Given the description of an element on the screen output the (x, y) to click on. 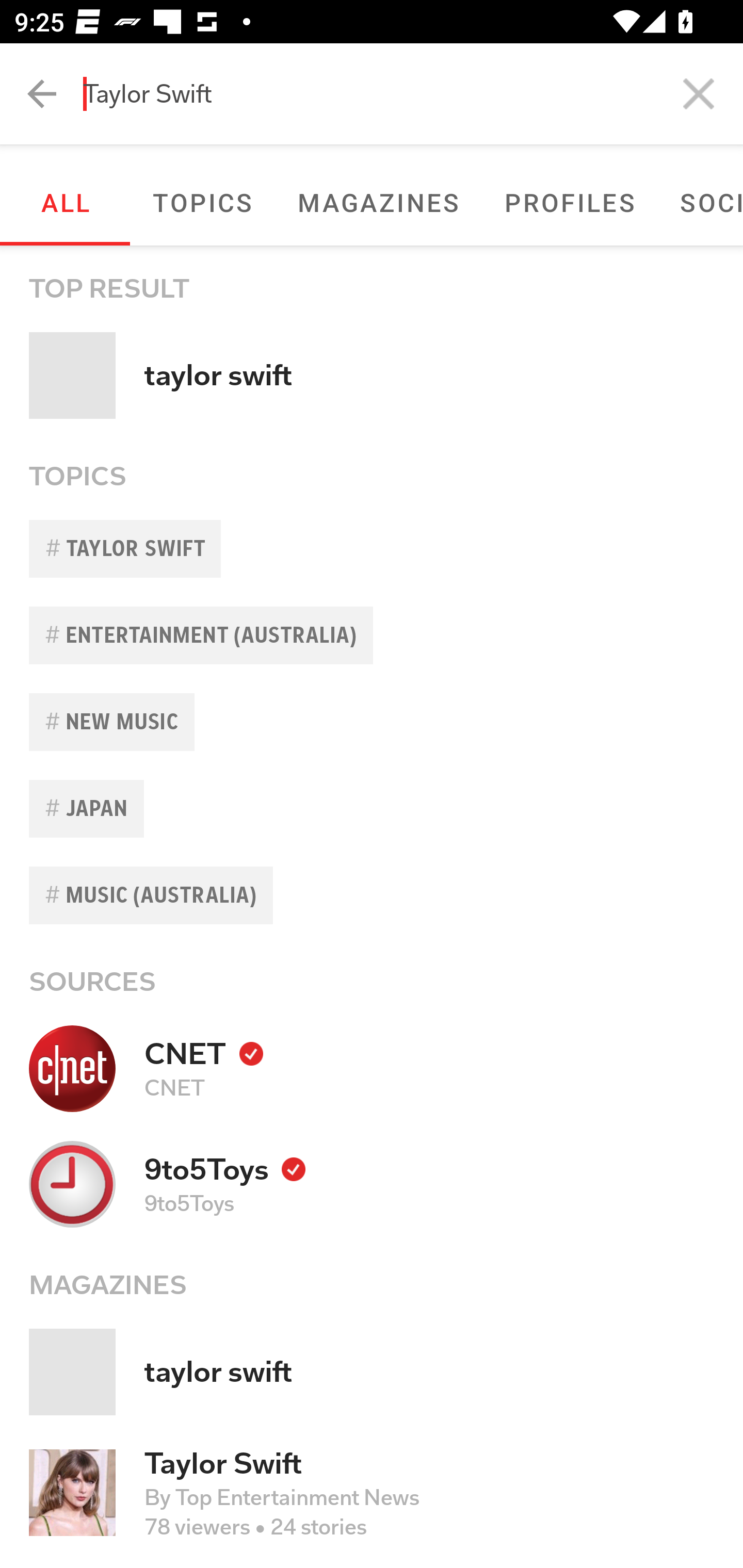
Taylor Swift (413, 93)
TOPICS (202, 202)
MAGAZINES (378, 202)
PROFILES (569, 202)
taylor swift (371, 375)
# TAYLOR SWIFT (371, 548)
# ENTERTAINMENT (AUSTRALIA) (371, 635)
# NEW MUSIC (371, 721)
# JAPAN (371, 808)
# MUSIC (AUSTRALIA) (371, 895)
CNET (371, 1068)
9to5Toys (371, 1183)
taylor swift (371, 1371)
